Given the description of an element on the screen output the (x, y) to click on. 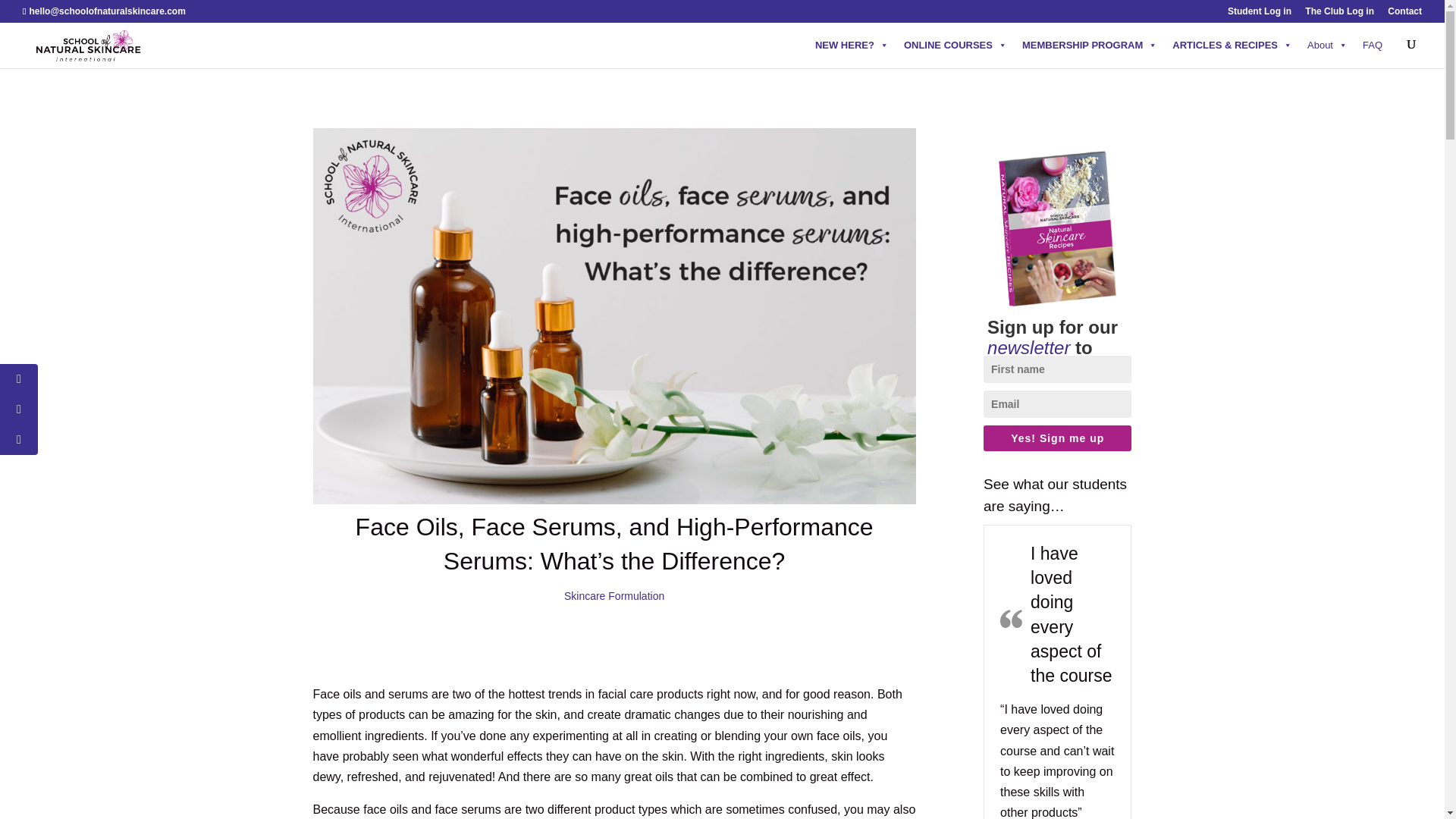
The Club Log in (1339, 14)
NEW HERE? (852, 45)
ONLINE COURSES (955, 45)
Contact (1404, 14)
MEMBERSHIP PROGRAM (1089, 45)
Student Log in (1259, 14)
